Given the description of an element on the screen output the (x, y) to click on. 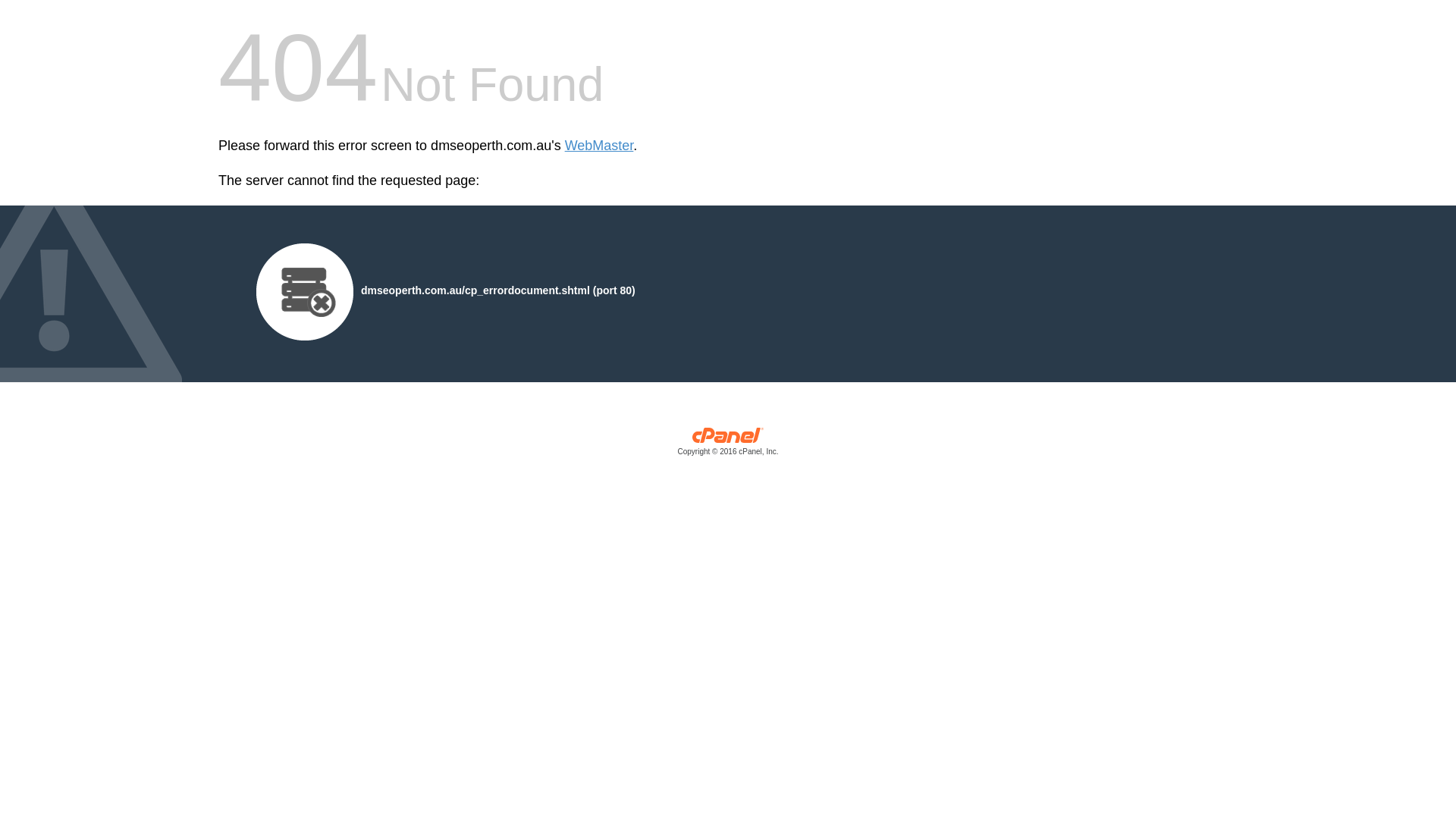
WebMaster Element type: text (598, 145)
